Given the description of an element on the screen output the (x, y) to click on. 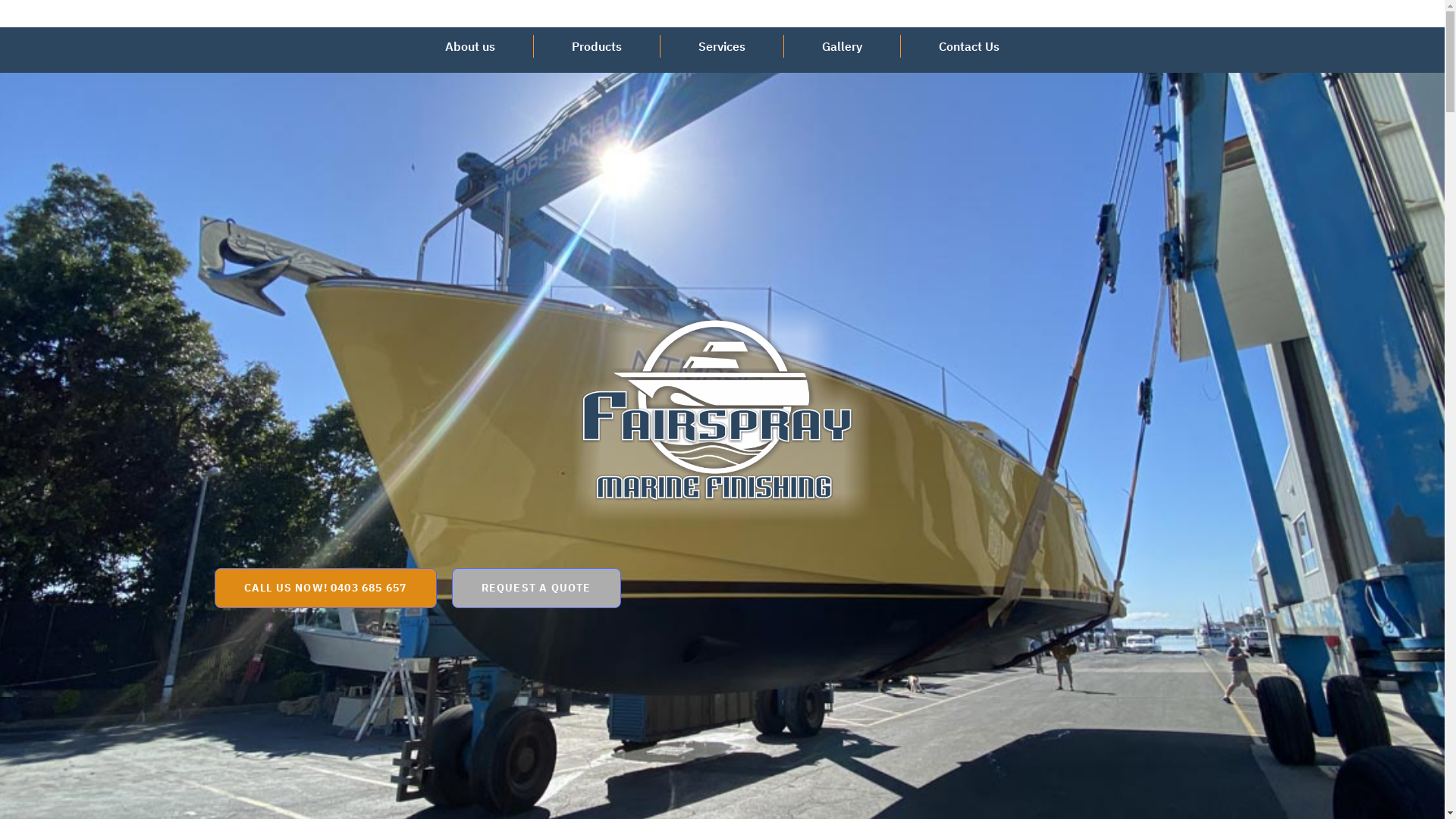
About us Element type: text (470, 46)
Products Element type: text (596, 46)
Services Element type: text (721, 46)
Contact Us Element type: text (968, 46)
REQUEST A QUOTE Element type: text (536, 587)
0403 685 657 Element type: text (903, 17)
info@fairspray.com.au Element type: text (751, 17)
Gallery Element type: text (842, 46)
CALL US NOW! 0403 685 657 Element type: text (324, 587)
